Given the description of an element on the screen output the (x, y) to click on. 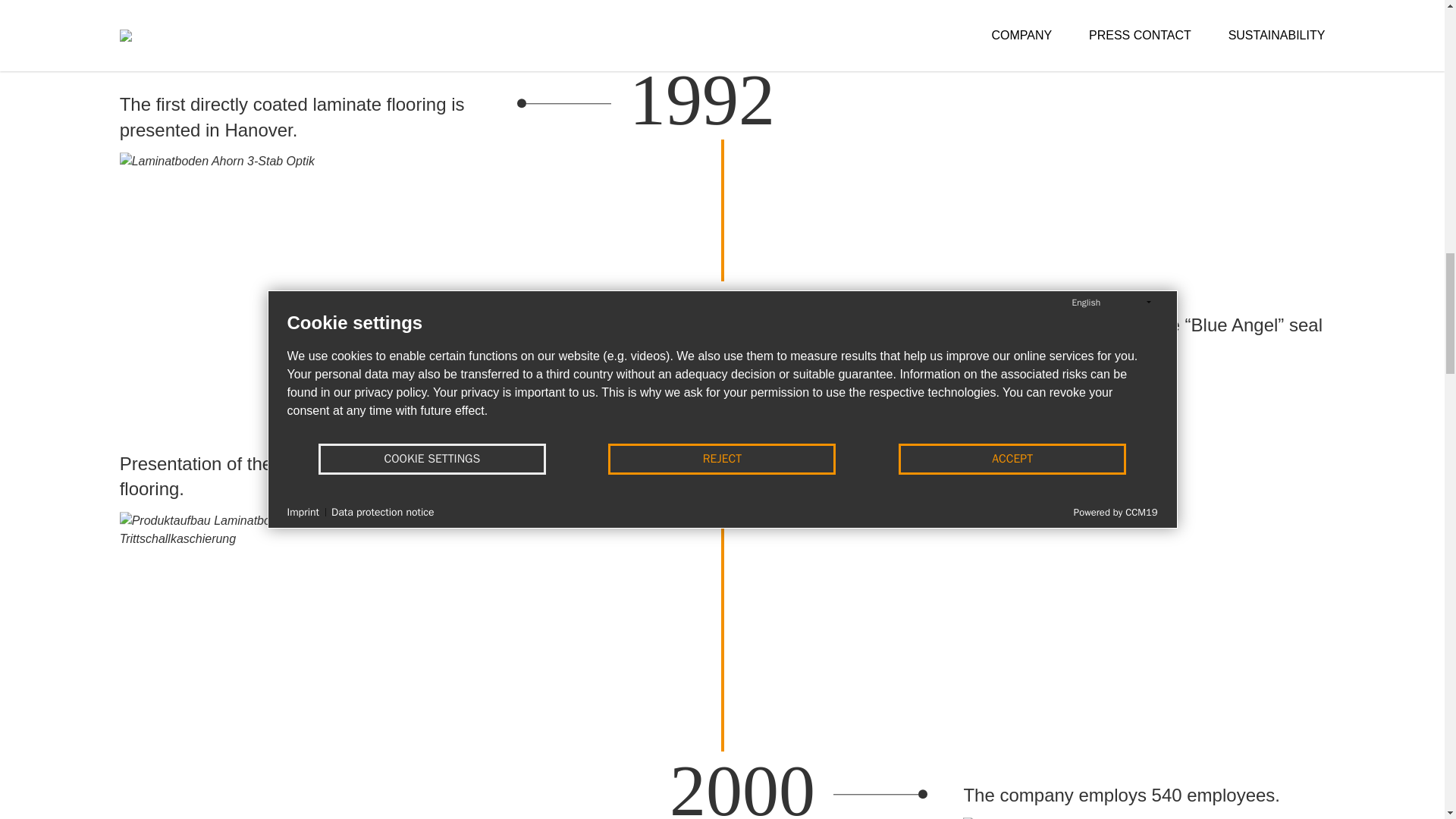
Der erste direktbeschichtete Laminatboden von MEISTER (216, 216)
